Given the description of an element on the screen output the (x, y) to click on. 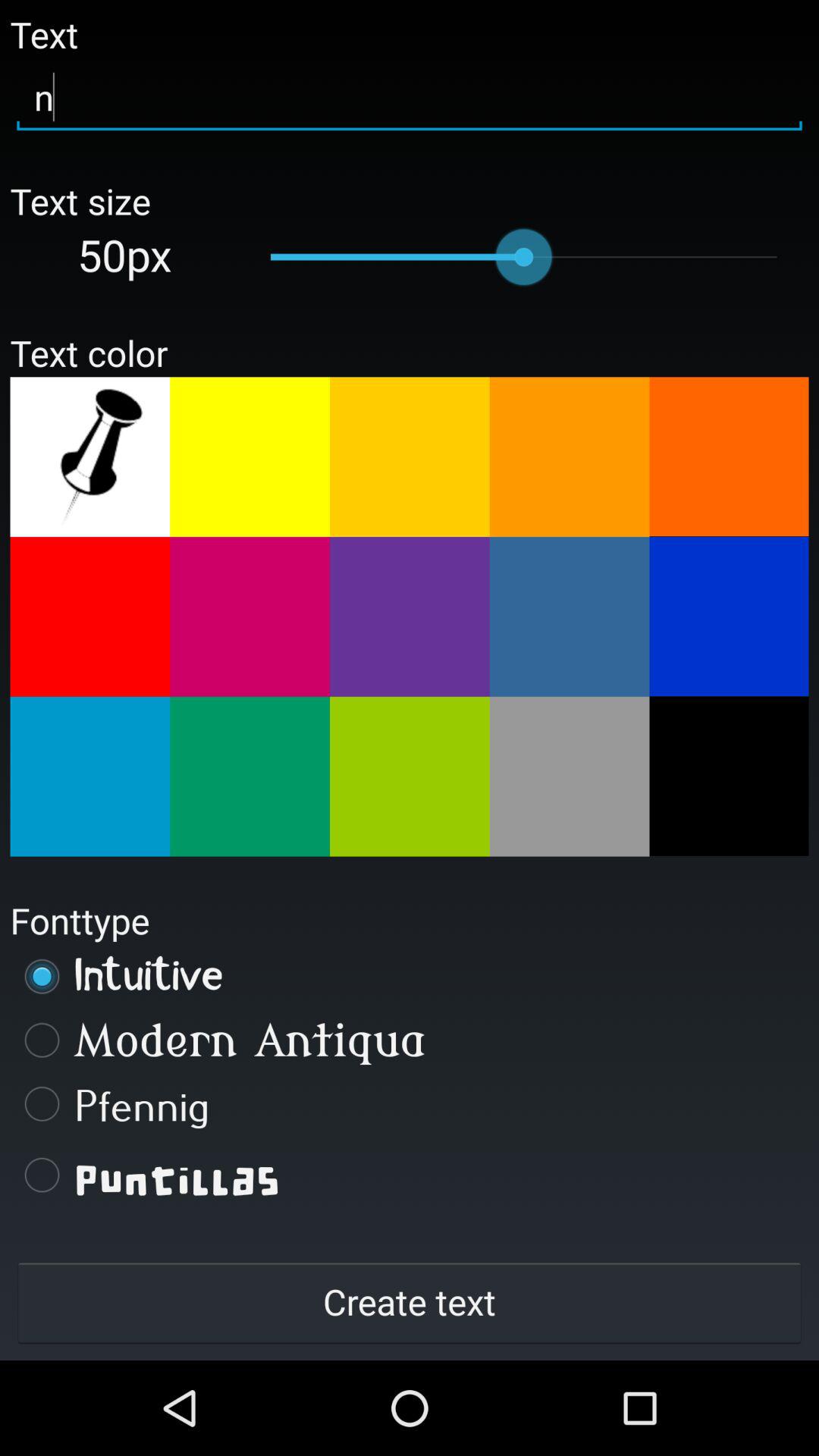
select dark orange (728, 456)
